Given the description of an element on the screen output the (x, y) to click on. 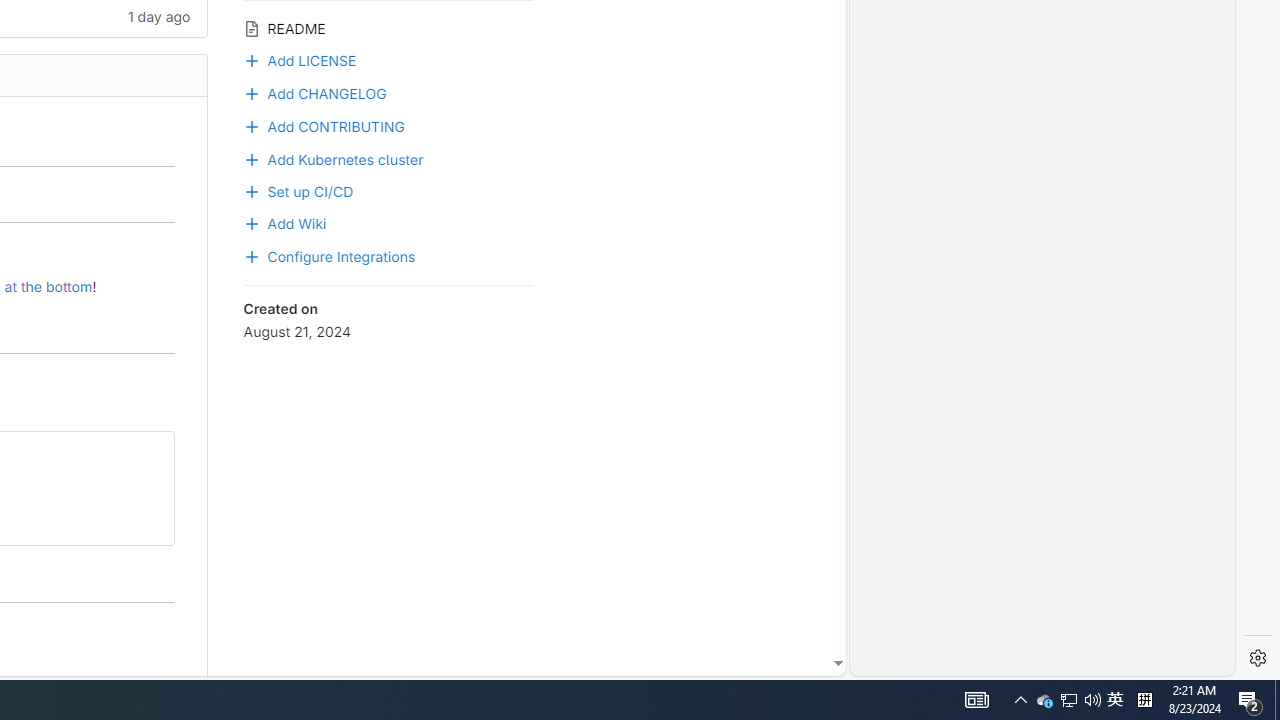
Configure Integrations (387, 255)
Add CHANGELOG (387, 92)
Class: btn btn-default btn-md gl-button btn-icon has-tooltip (150, 453)
Add CONTRIBUTING (323, 124)
Configure Integrations (329, 255)
Class: s16 icon gl-mr-3 gl-text-gray-500 (251, 28)
Add Wiki (284, 222)
Set up CI/CD (298, 189)
